Given the description of an element on the screen output the (x, y) to click on. 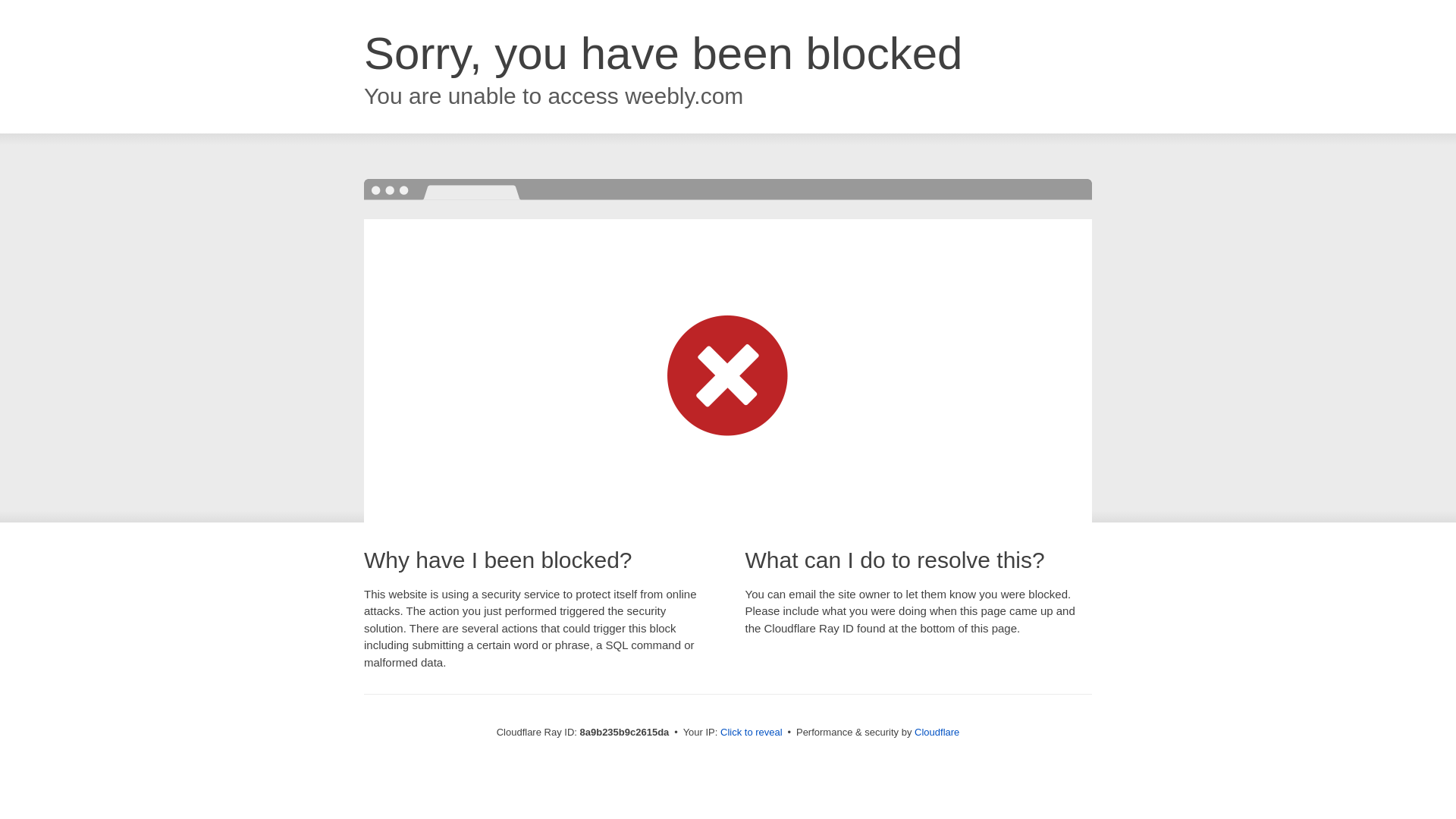
Cloudflare (936, 731)
Click to reveal (751, 732)
